Given the description of an element on the screen output the (x, y) to click on. 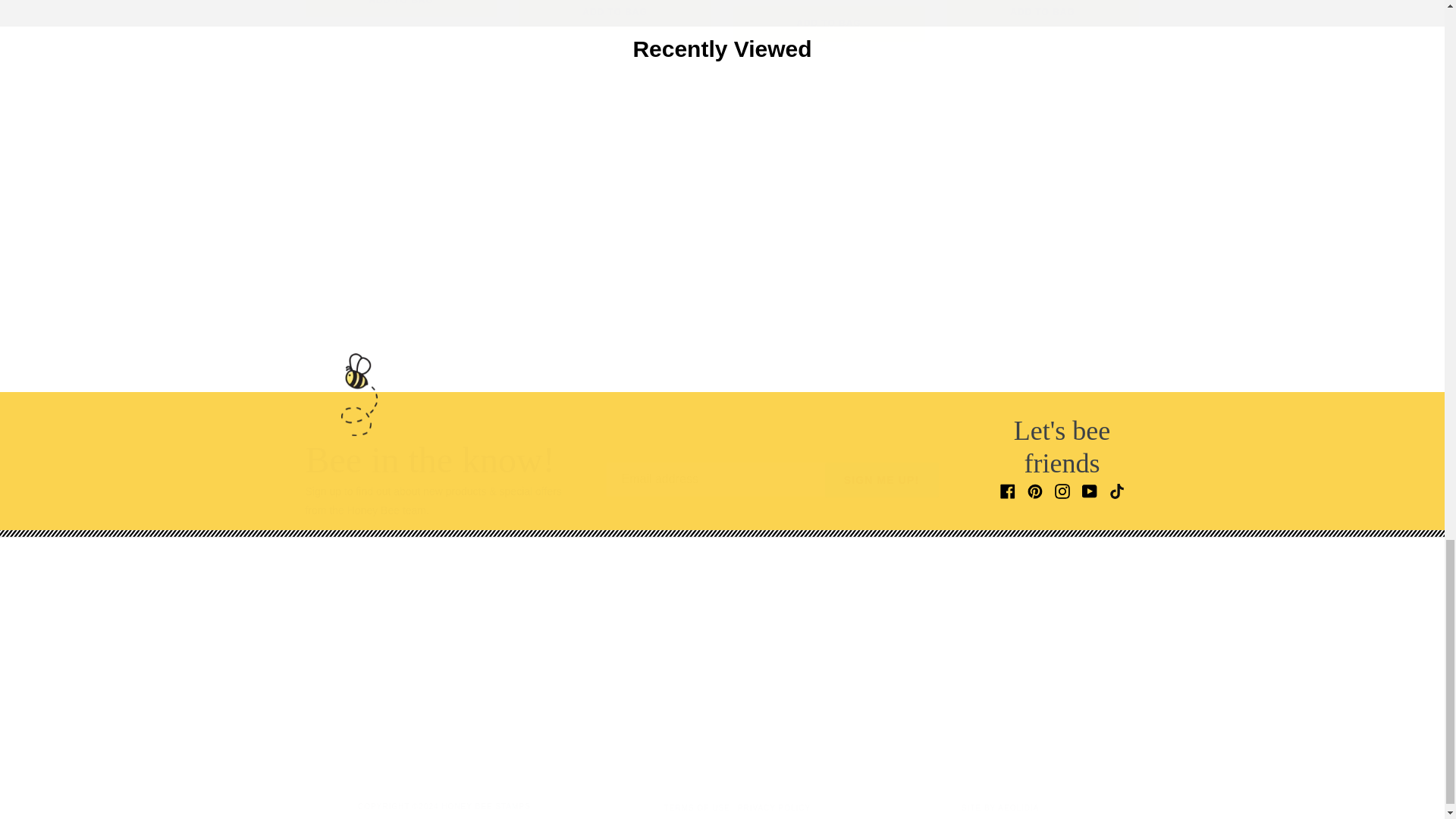
Bee in the know! (772, 479)
